Given the description of an element on the screen output the (x, y) to click on. 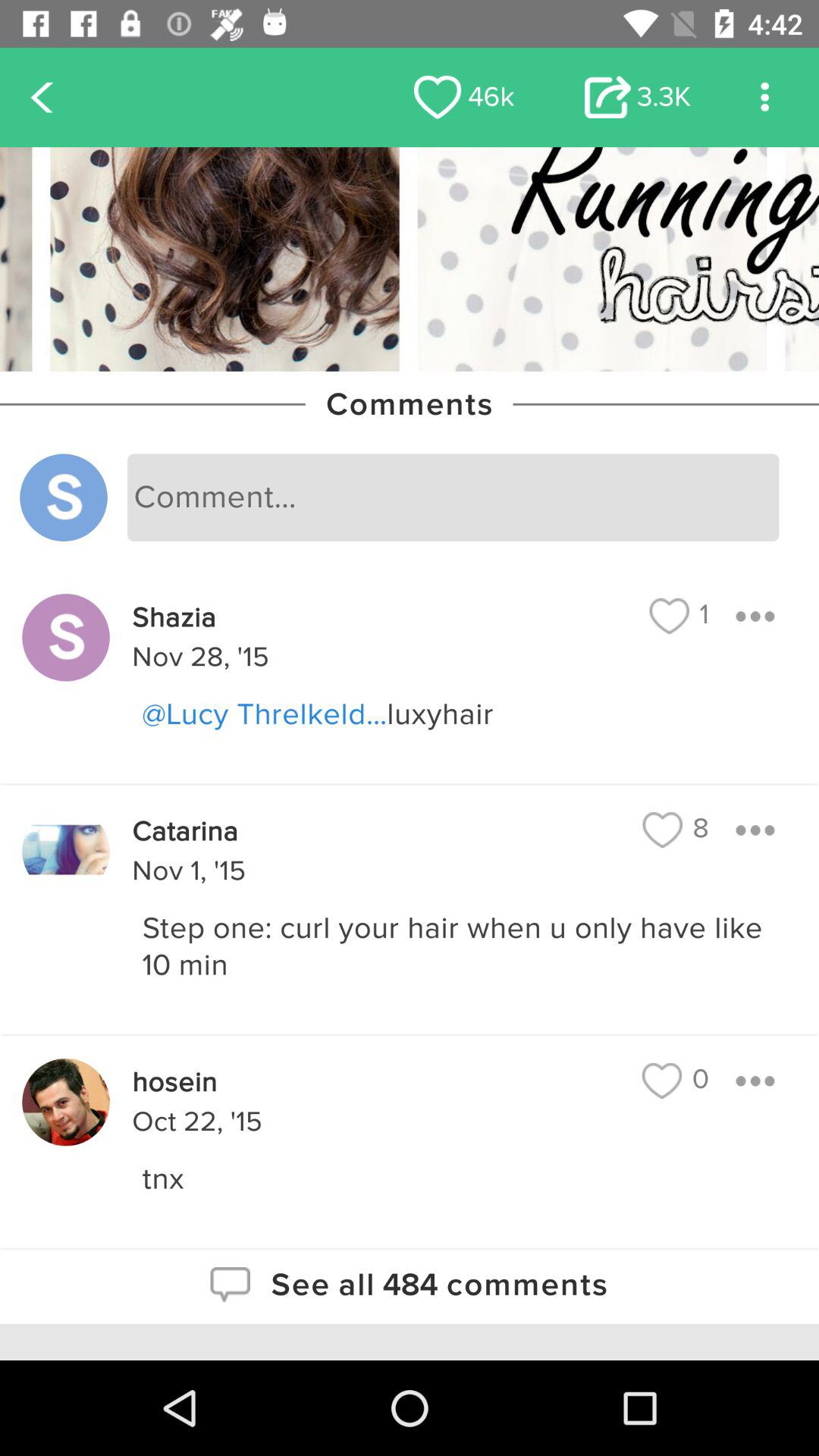
jump to the 3.3k (637, 97)
